Given the description of an element on the screen output the (x, y) to click on. 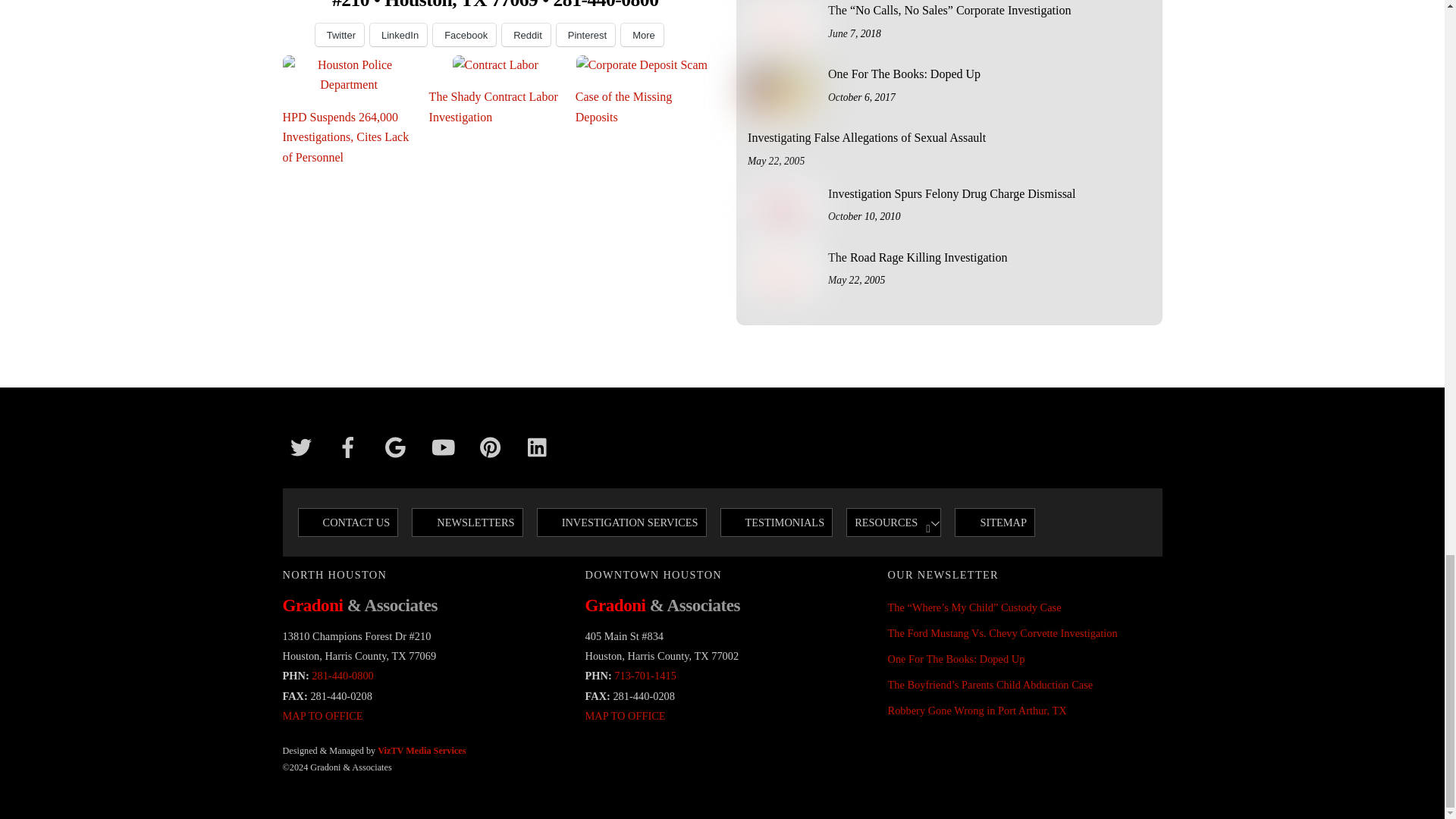
Click to share on Facebook (464, 34)
Click to share on LinkedIn (397, 34)
Click to share on Reddit (526, 34)
Click to share on Pinterest (585, 34)
Click to share on Twitter (339, 34)
